Given the description of an element on the screen output the (x, y) to click on. 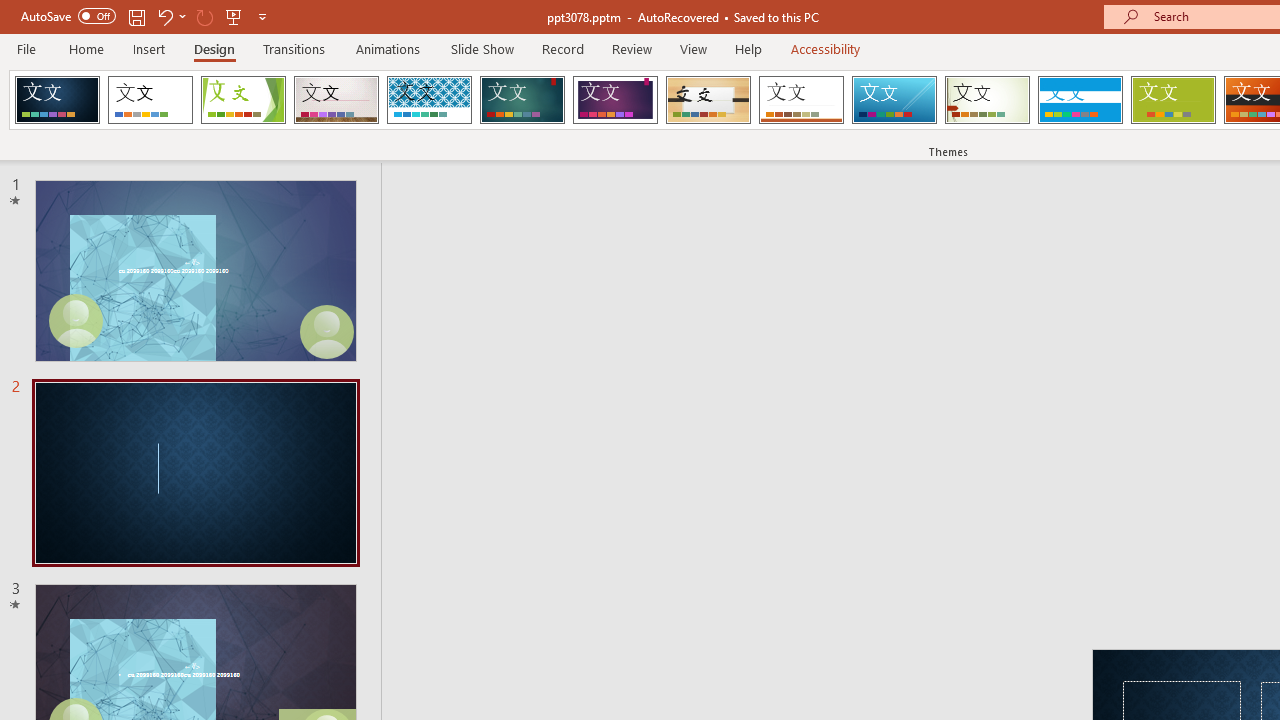
Facet (243, 100)
Retrospect (801, 100)
Slice (893, 100)
Ion Boardroom (615, 100)
